Given the description of an element on the screen output the (x, y) to click on. 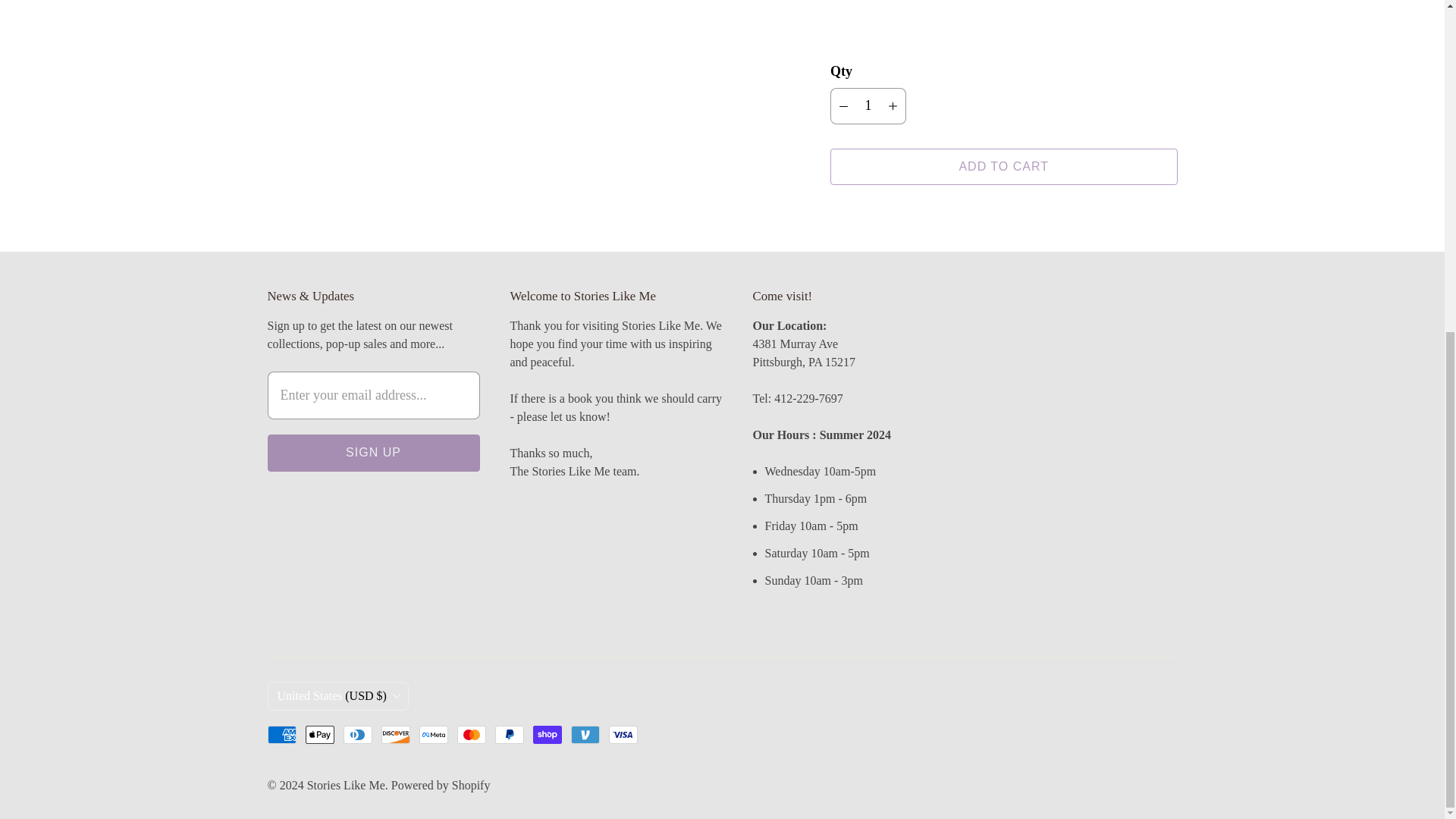
Shop Pay (546, 734)
Mastercard (470, 734)
Meta Pay (432, 734)
Visa (622, 734)
Sign Up (372, 452)
Venmo (584, 734)
Discover (394, 734)
Apple Pay (318, 734)
PayPal (508, 734)
American Express (280, 734)
